Given the description of an element on the screen output the (x, y) to click on. 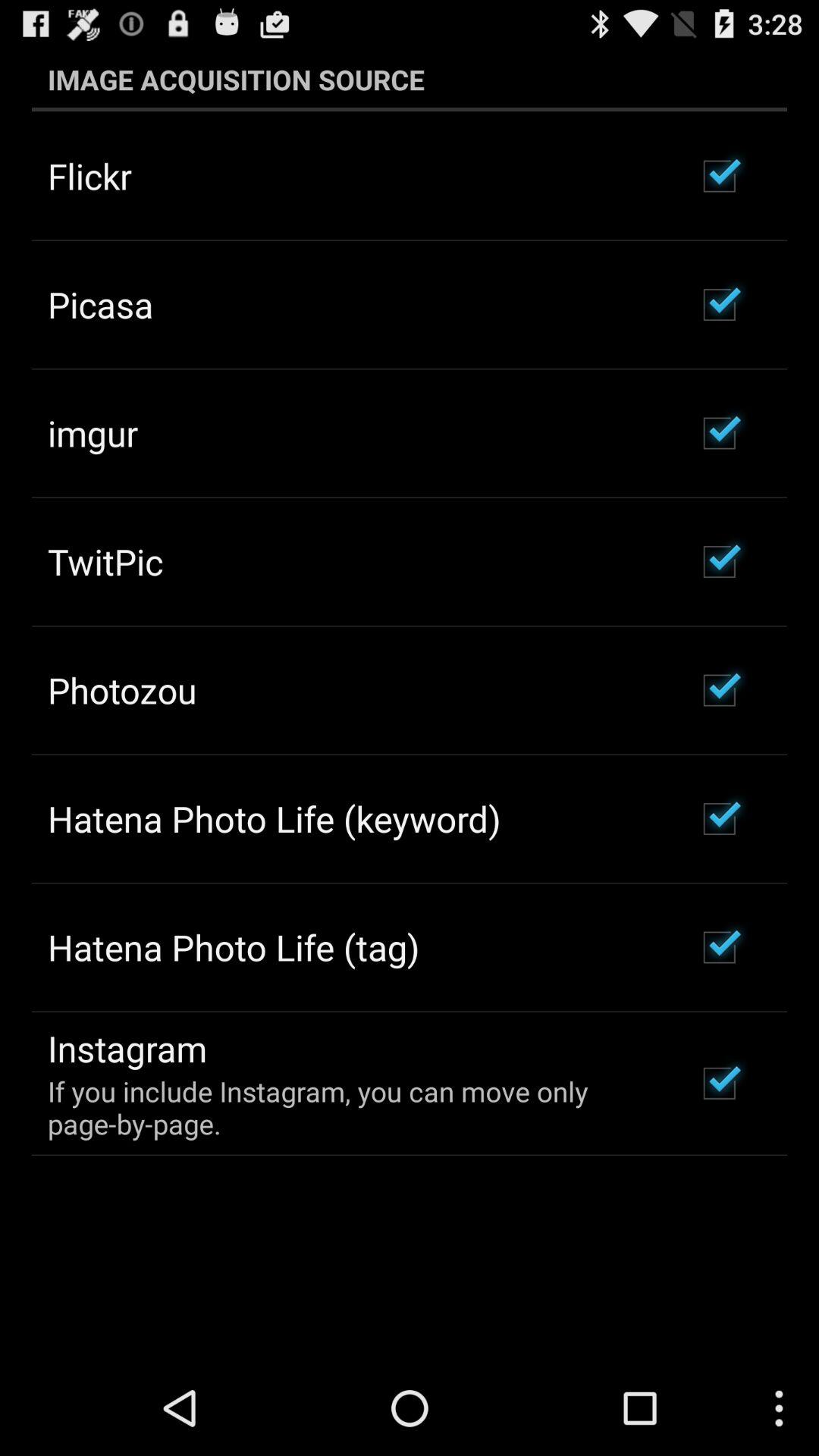
tap app above the hatena photo life item (121, 690)
